Given the description of an element on the screen output the (x, y) to click on. 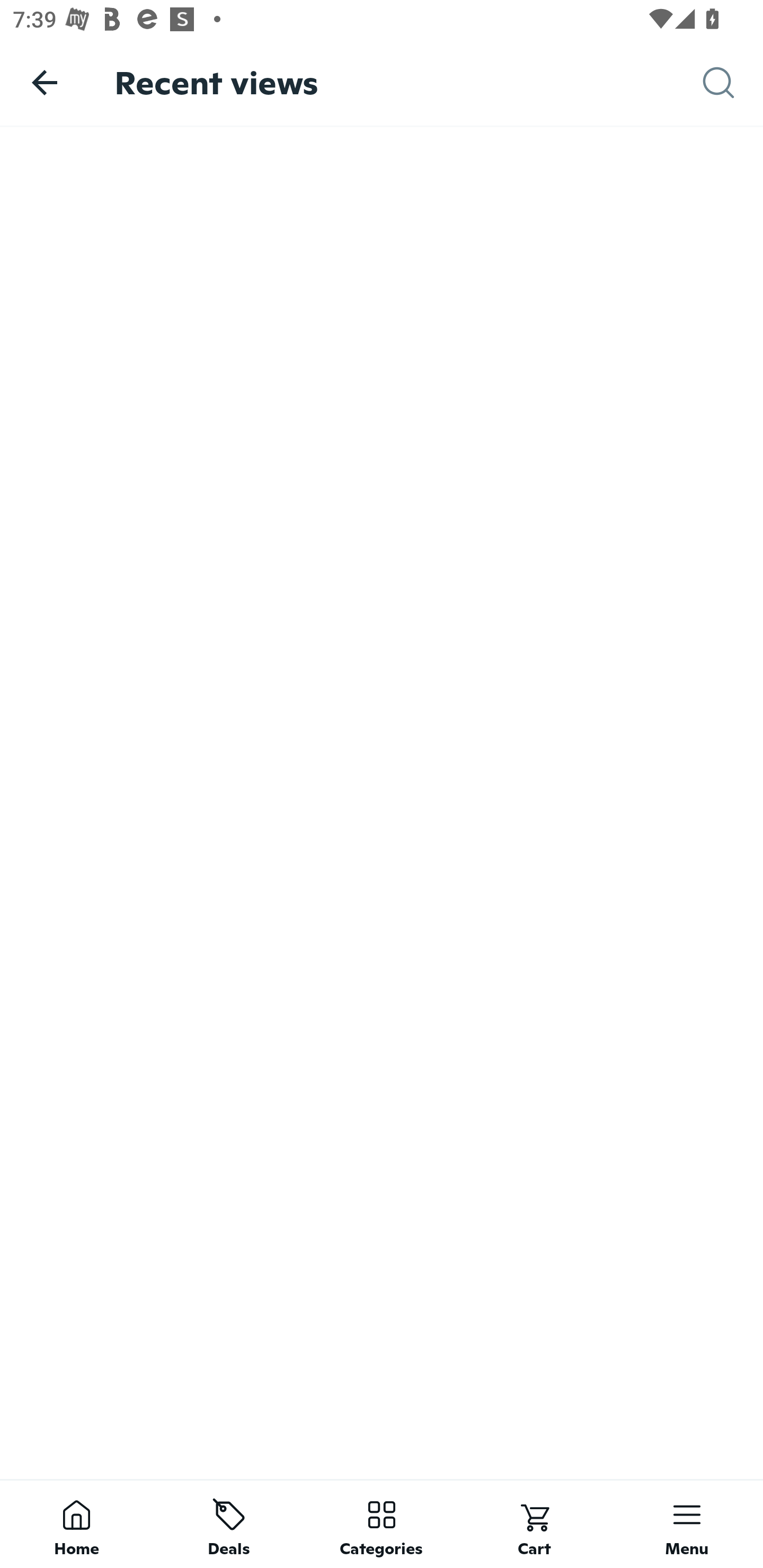
Navigate up (44, 82)
Search (732, 82)
Home (76, 1523)
Deals (228, 1523)
Categories (381, 1523)
Cart (533, 1523)
Menu (686, 1523)
